Given the description of an element on the screen output the (x, y) to click on. 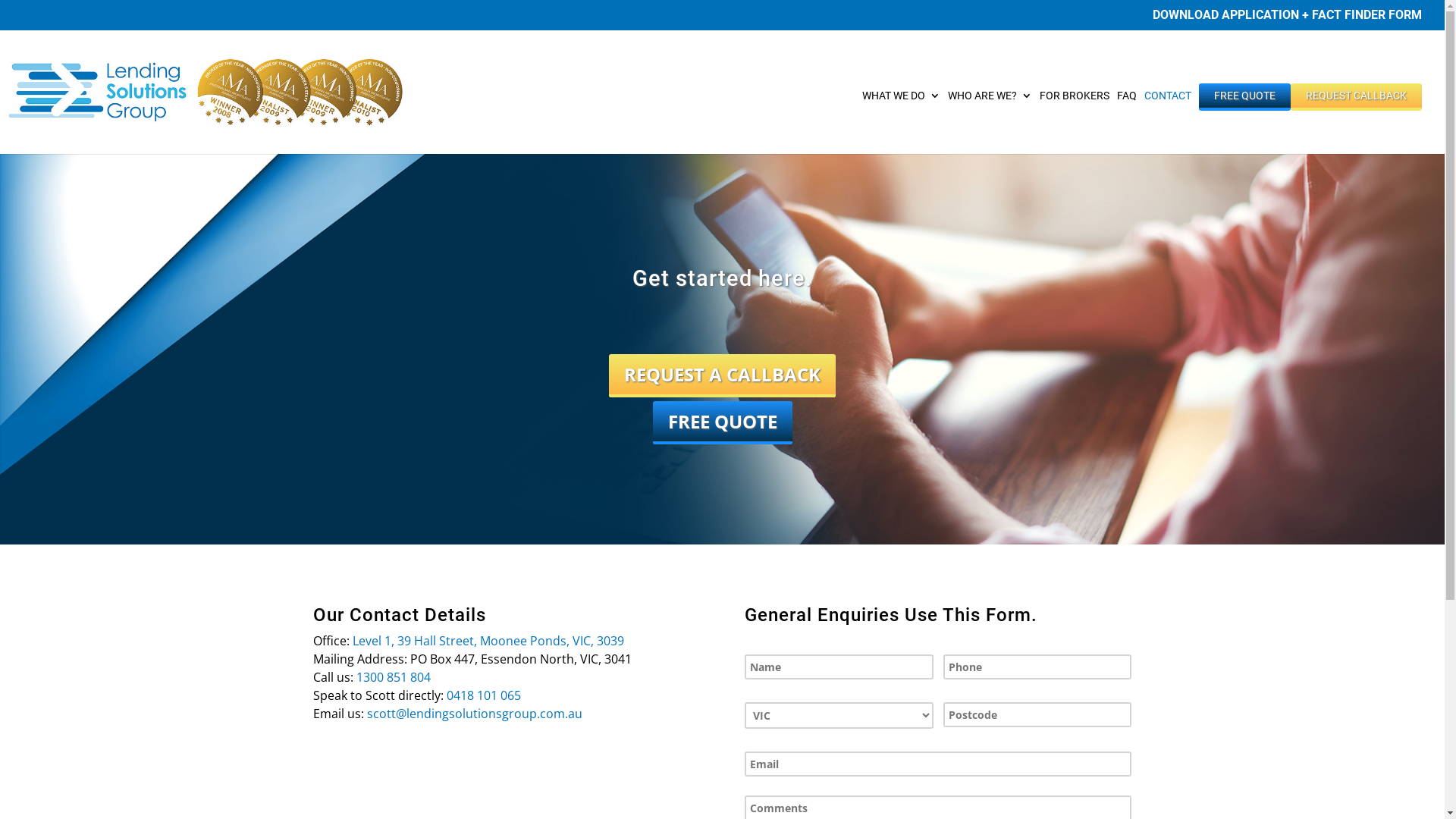
REQUEST CALLBACK Element type: text (1355, 121)
FREE QUOTE Element type: text (721, 422)
DOWNLOAD APPLICATION + FACT FINDER FORM Element type: text (1286, 19)
WHO ARE WE? Element type: text (989, 121)
WHAT WE DO Element type: text (901, 121)
FREE QUOTE Element type: text (1244, 121)
FOR BROKERS Element type: text (1074, 121)
REQUEST A CALLBACK Element type: text (721, 375)
FAQ Element type: text (1126, 121)
0418 101 065 Element type: text (482, 695)
CONTACT Element type: text (1167, 121)
scott@lendingsolutionsgroup.com.au Element type: text (474, 713)
Level 1, 39 Hall Street, Moonee Ponds, VIC, 3039 Element type: text (487, 640)
1300 851 804 Element type: text (393, 676)
